Given the description of an element on the screen output the (x, y) to click on. 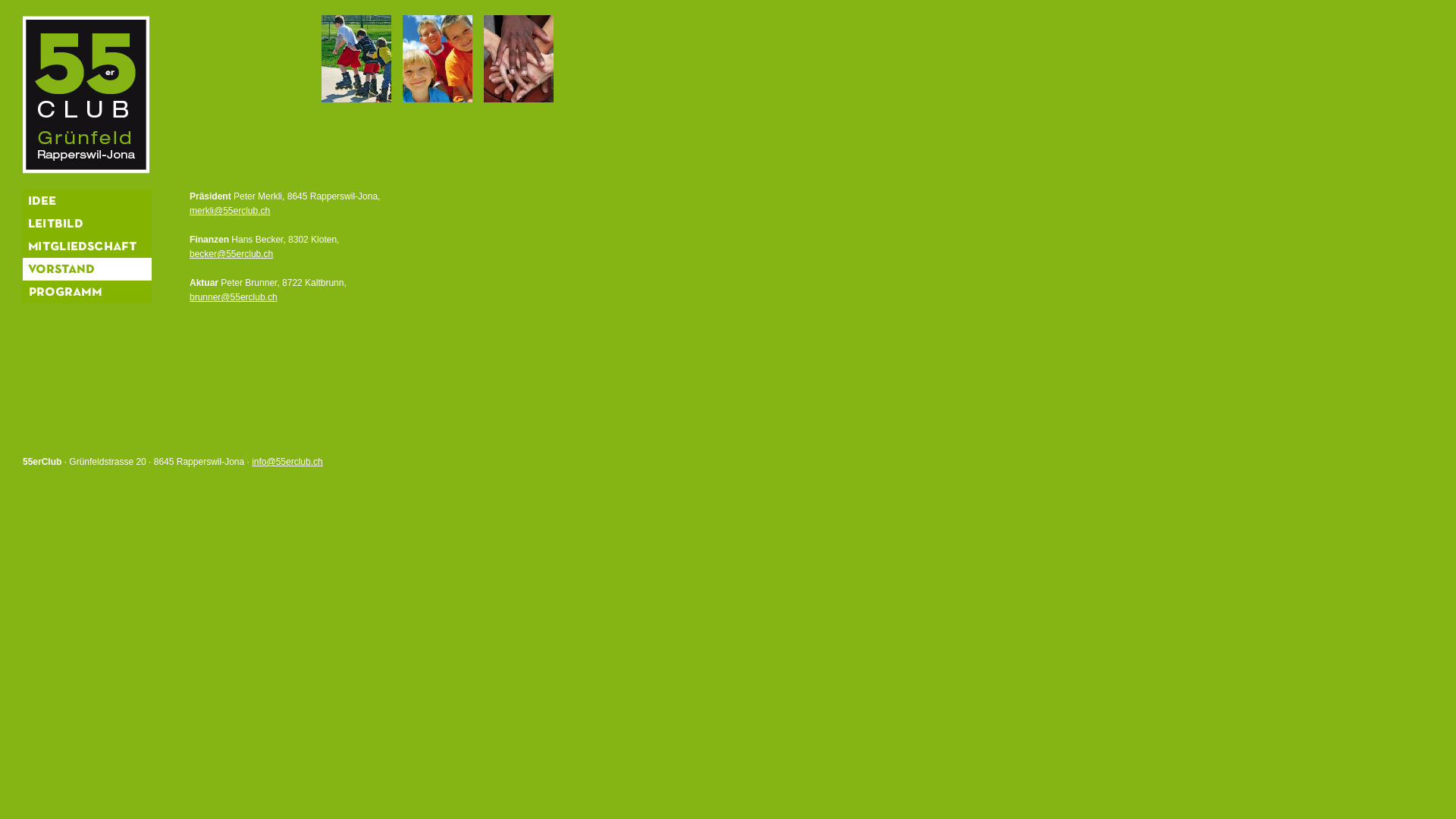
info@55erclub.ch Element type: text (287, 461)
merkli@55erclub.ch Element type: text (229, 210)
becker@55erclub.ch Element type: text (231, 253)
brunner@55erclub.ch Element type: text (233, 296)
